Given the description of an element on the screen output the (x, y) to click on. 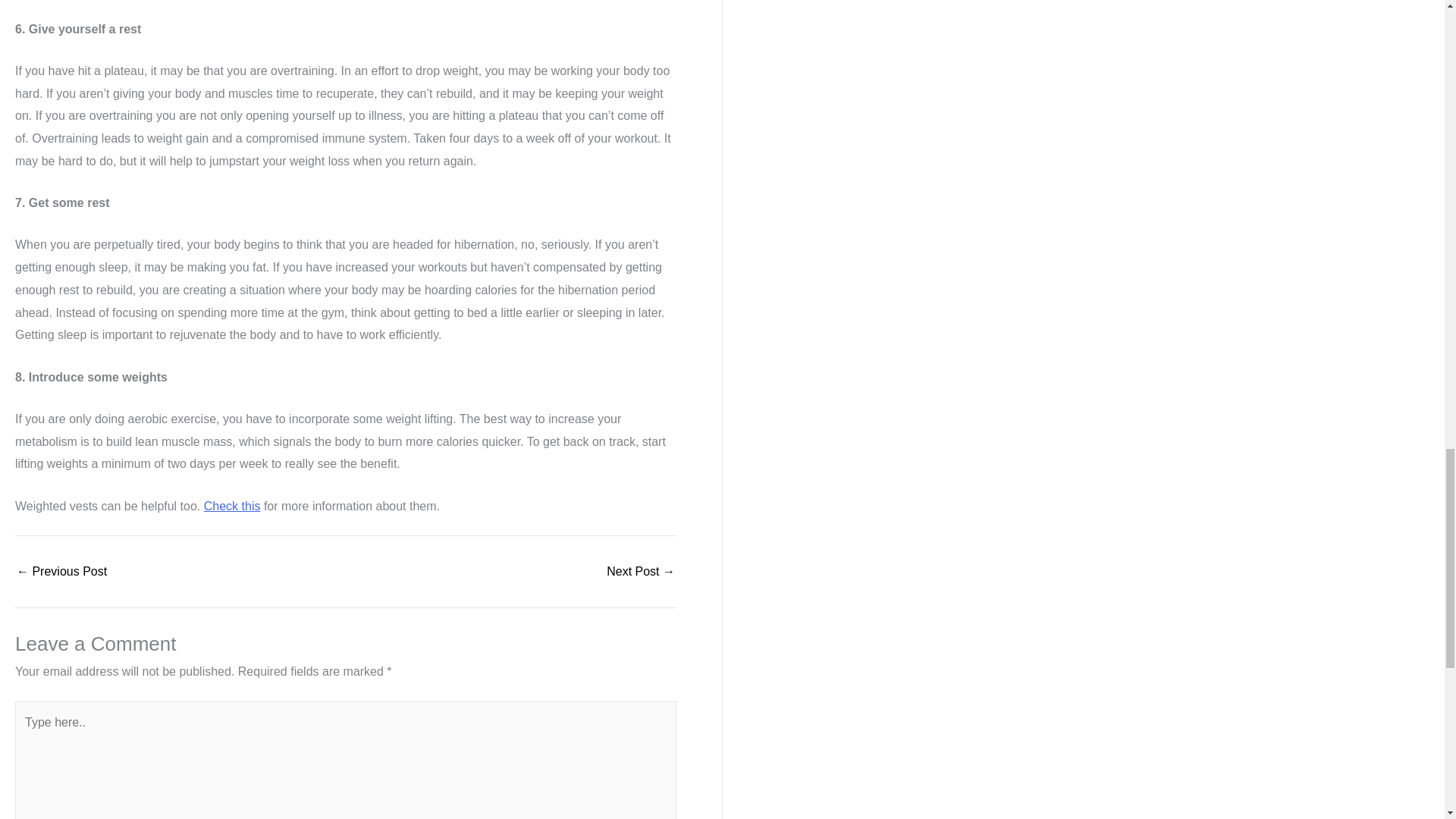
Check this (231, 504)
Superfoods To Speed Up Your Weight Loss (61, 571)
How To Choose The Right Diet Plan To Achieve Your Goals (641, 571)
